Given the description of an element on the screen output the (x, y) to click on. 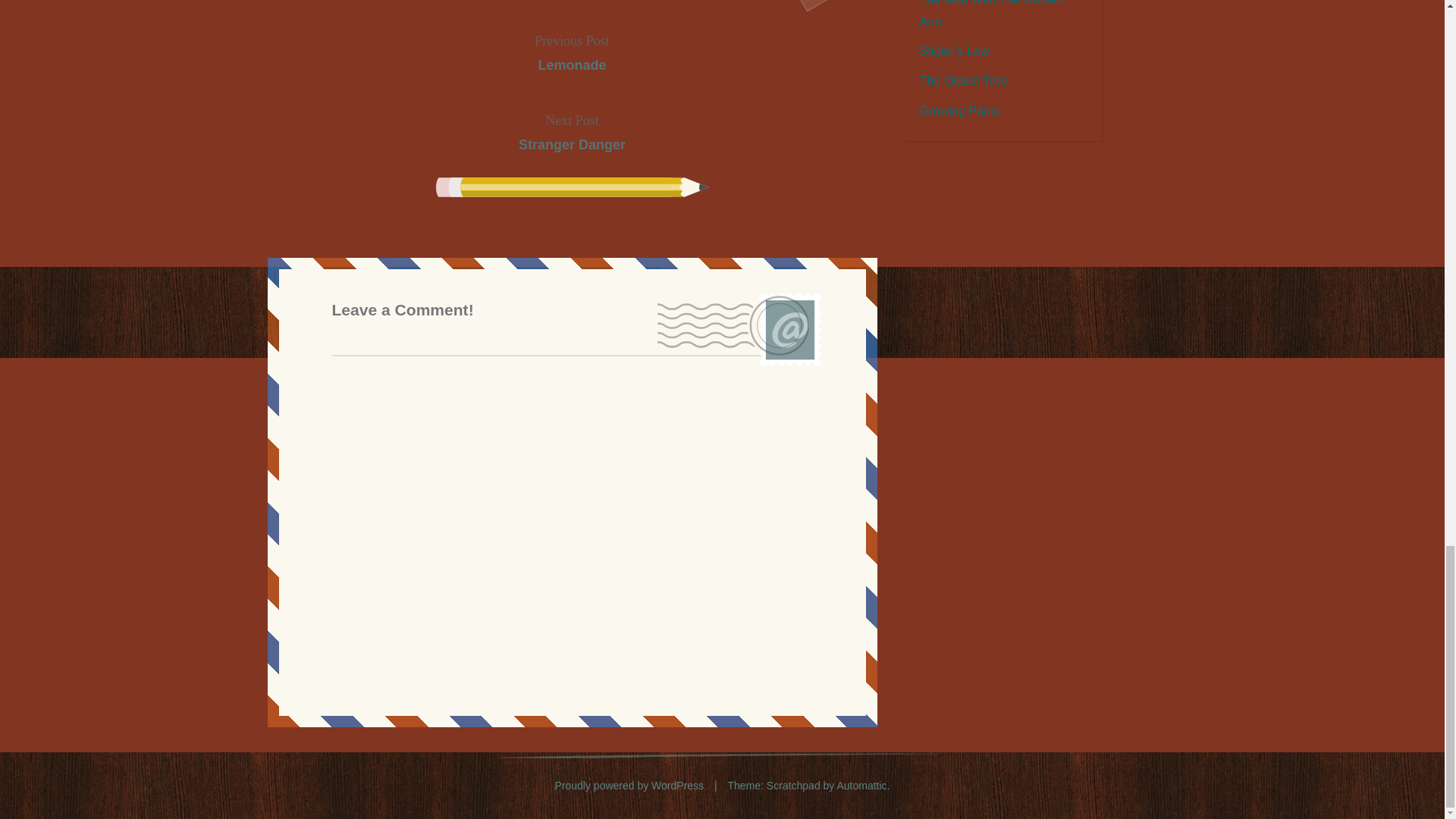
Comment Form (572, 52)
